Given the description of an element on the screen output the (x, y) to click on. 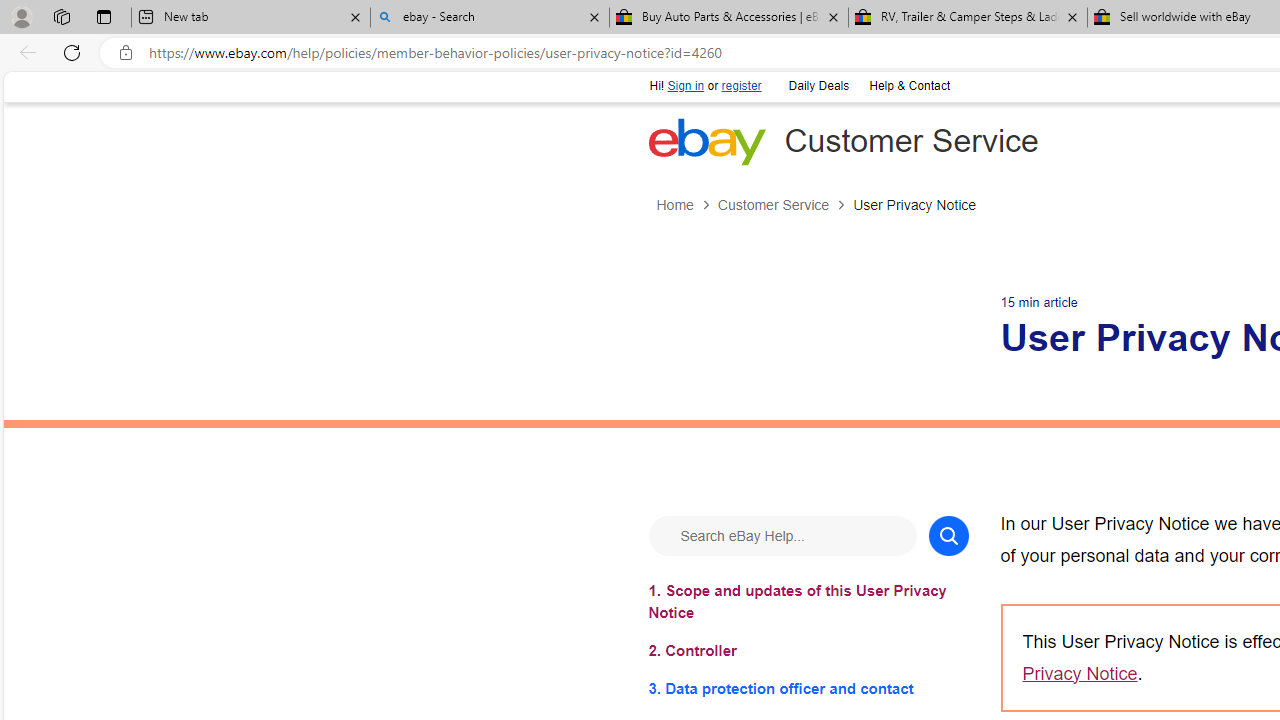
2. Controller (807, 650)
3. Data protection officer and contact (807, 687)
Customer Service (772, 205)
eBay Home (706, 141)
1. Scope and updates of this User Privacy Notice (807, 601)
eBay Home (706, 141)
Help & Contact (907, 84)
Home (674, 205)
Search eBay Help... (781, 534)
Daily Deals (817, 84)
